Given the description of an element on the screen output the (x, y) to click on. 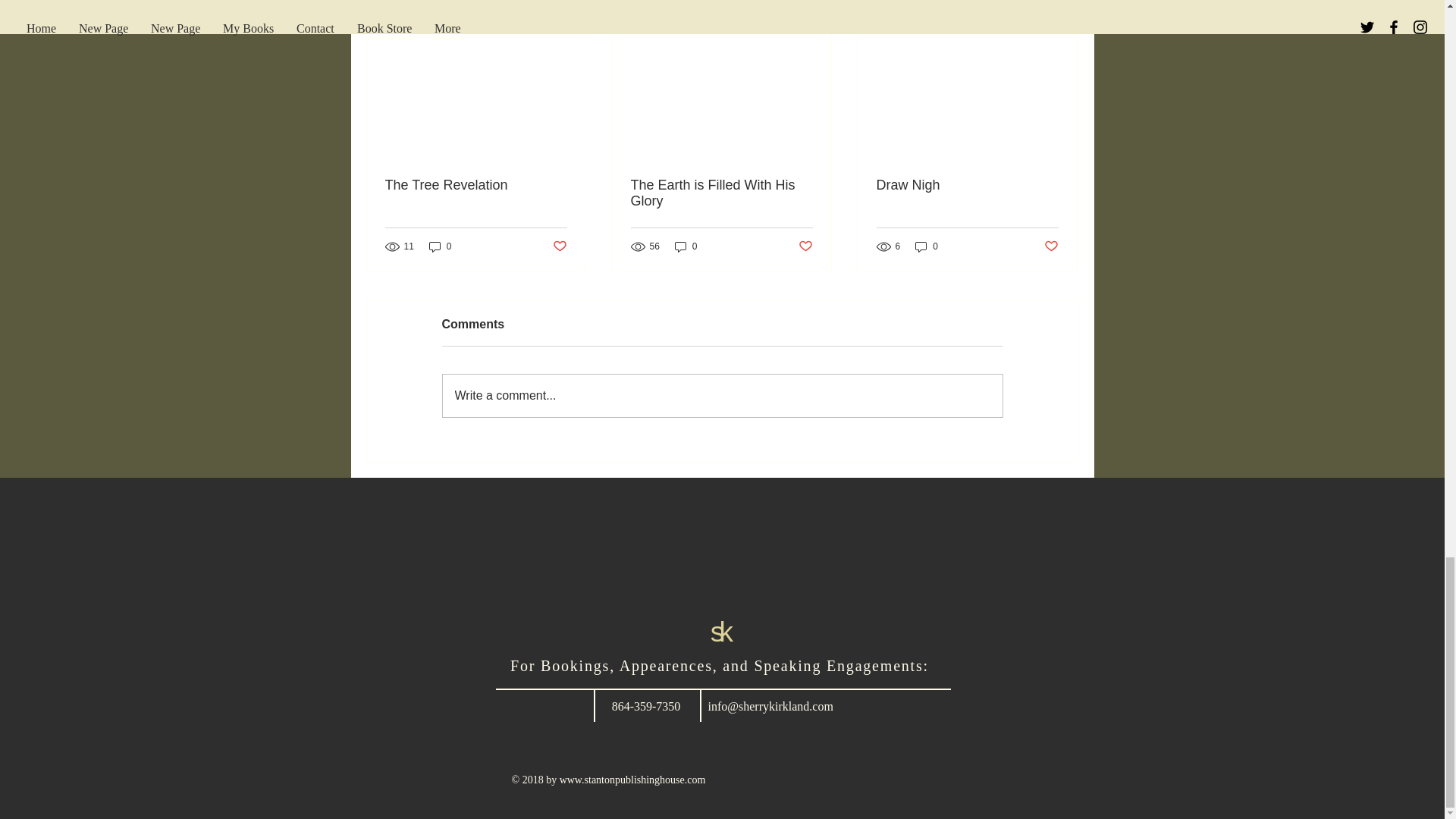
Post not marked as liked (558, 246)
See All (1061, 10)
The Tree Revelation (476, 185)
0 (440, 246)
